Given the description of an element on the screen output the (x, y) to click on. 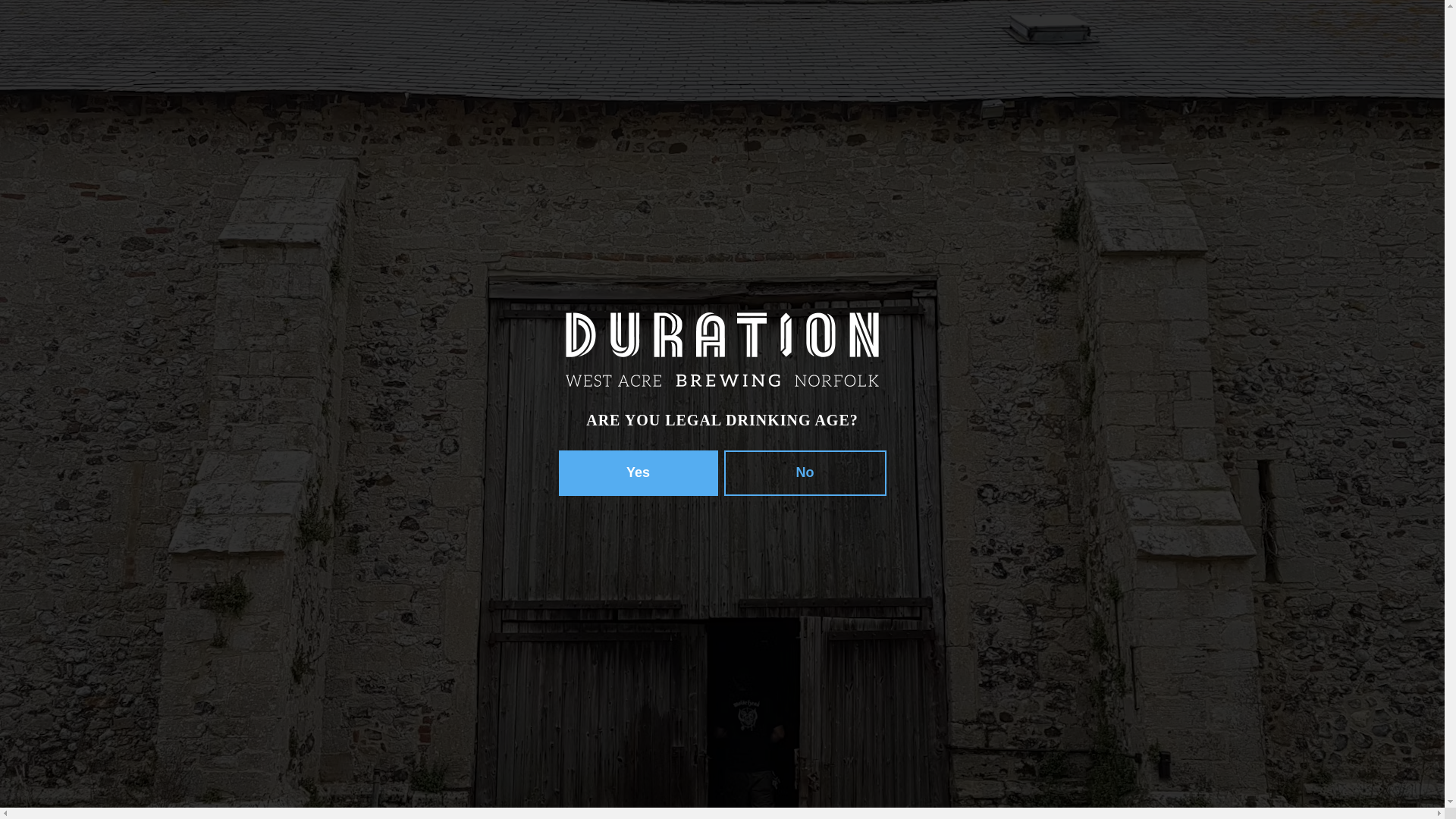
No (804, 473)
FAQs (1244, 30)
Duration Brewing (106, 30)
Blog (523, 30)
Blog (333, 209)
Newsletter (1146, 30)
Story (232, 30)
Instagram IconThe Instagram service icon (1377, 30)
lily waite (1091, 257)
here (346, 688)
